Given the description of an element on the screen output the (x, y) to click on. 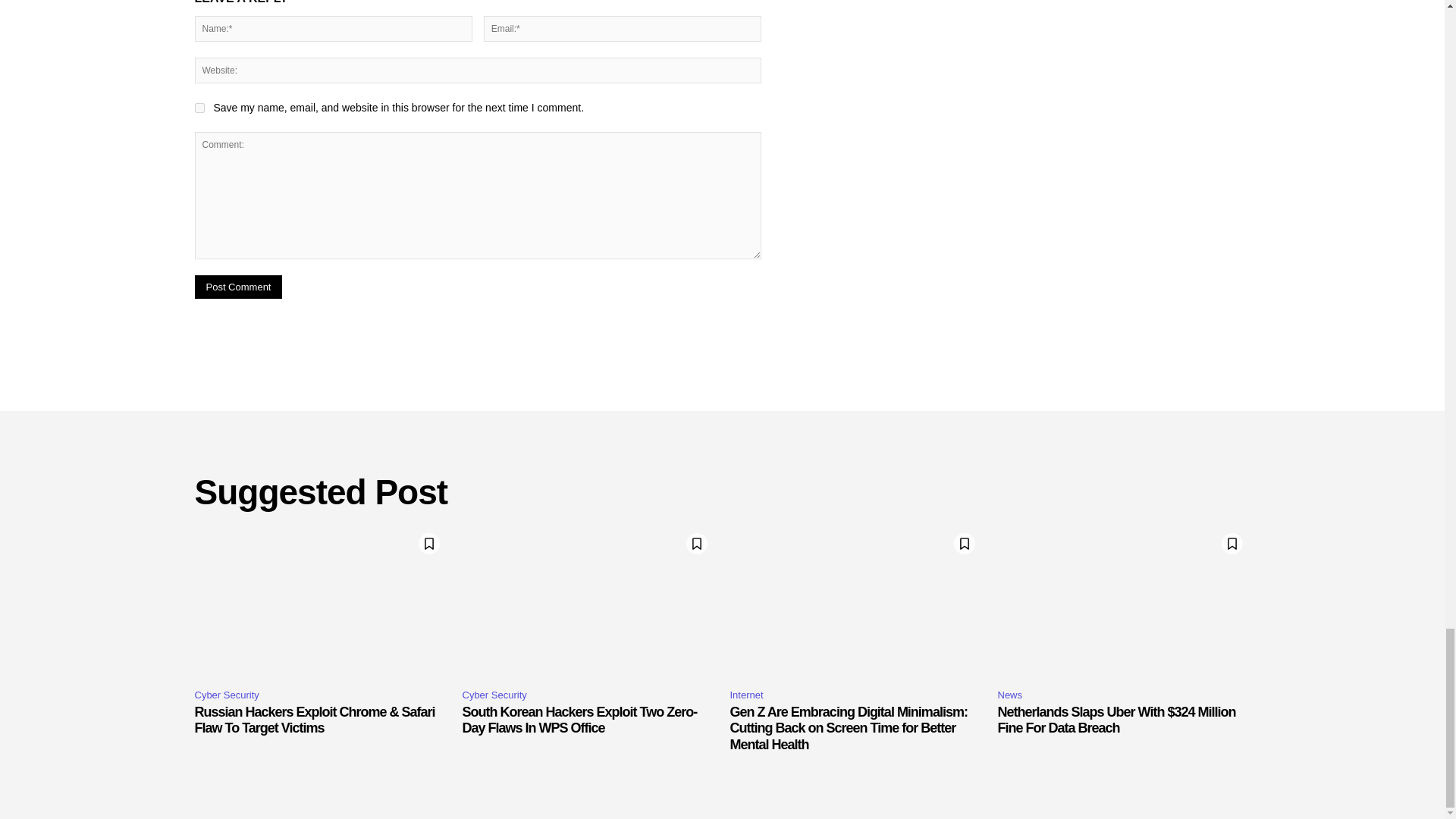
Post Comment (237, 286)
yes (198, 108)
Post Comment (237, 286)
